Given the description of an element on the screen output the (x, y) to click on. 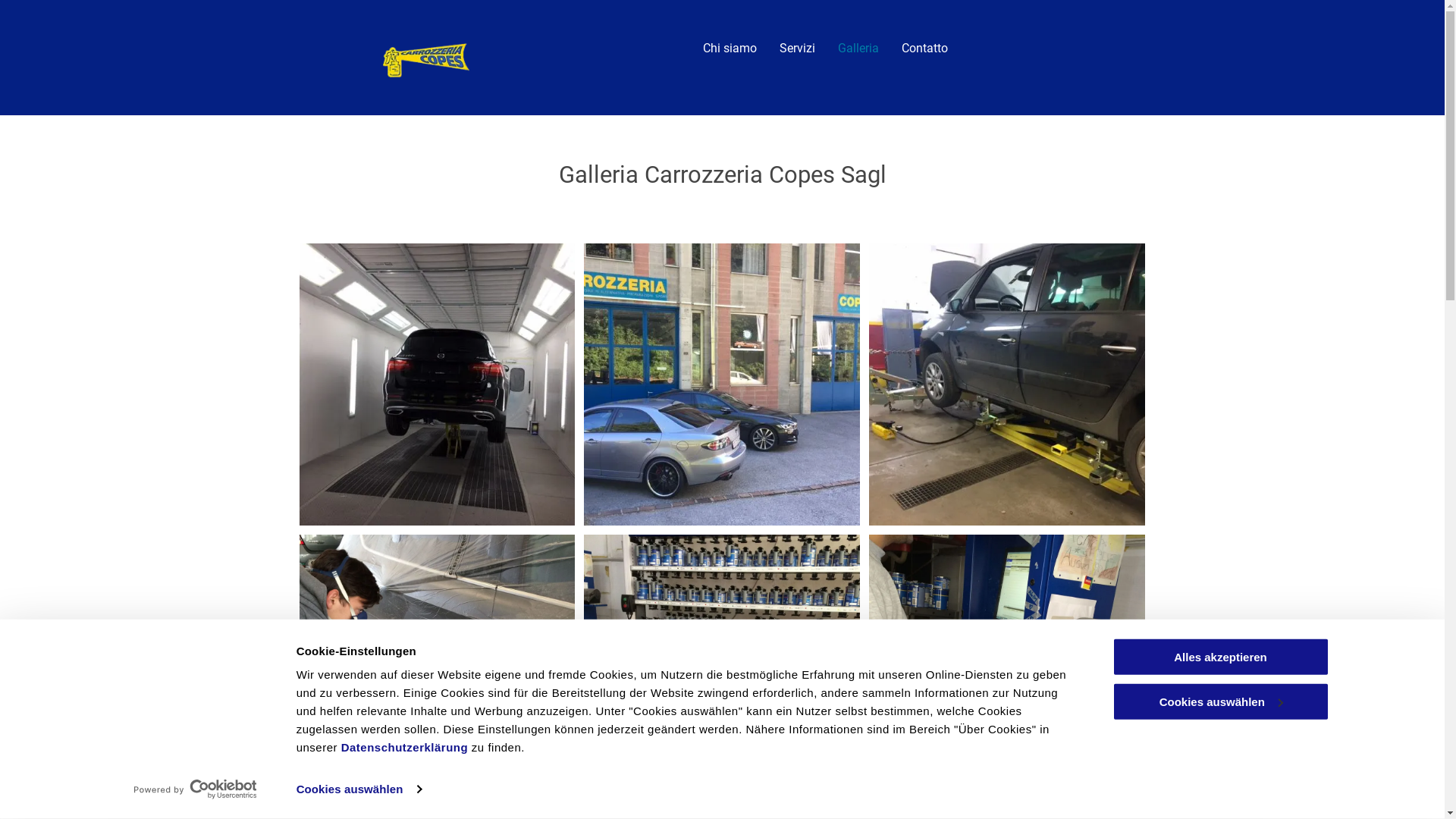
Chi siamo Element type: text (729, 48)
Servizi Element type: text (797, 48)
Alles akzeptieren Element type: text (1219, 656)
Galleria Element type: text (858, 48)
Contatto Element type: text (924, 48)
